Given the description of an element on the screen output the (x, y) to click on. 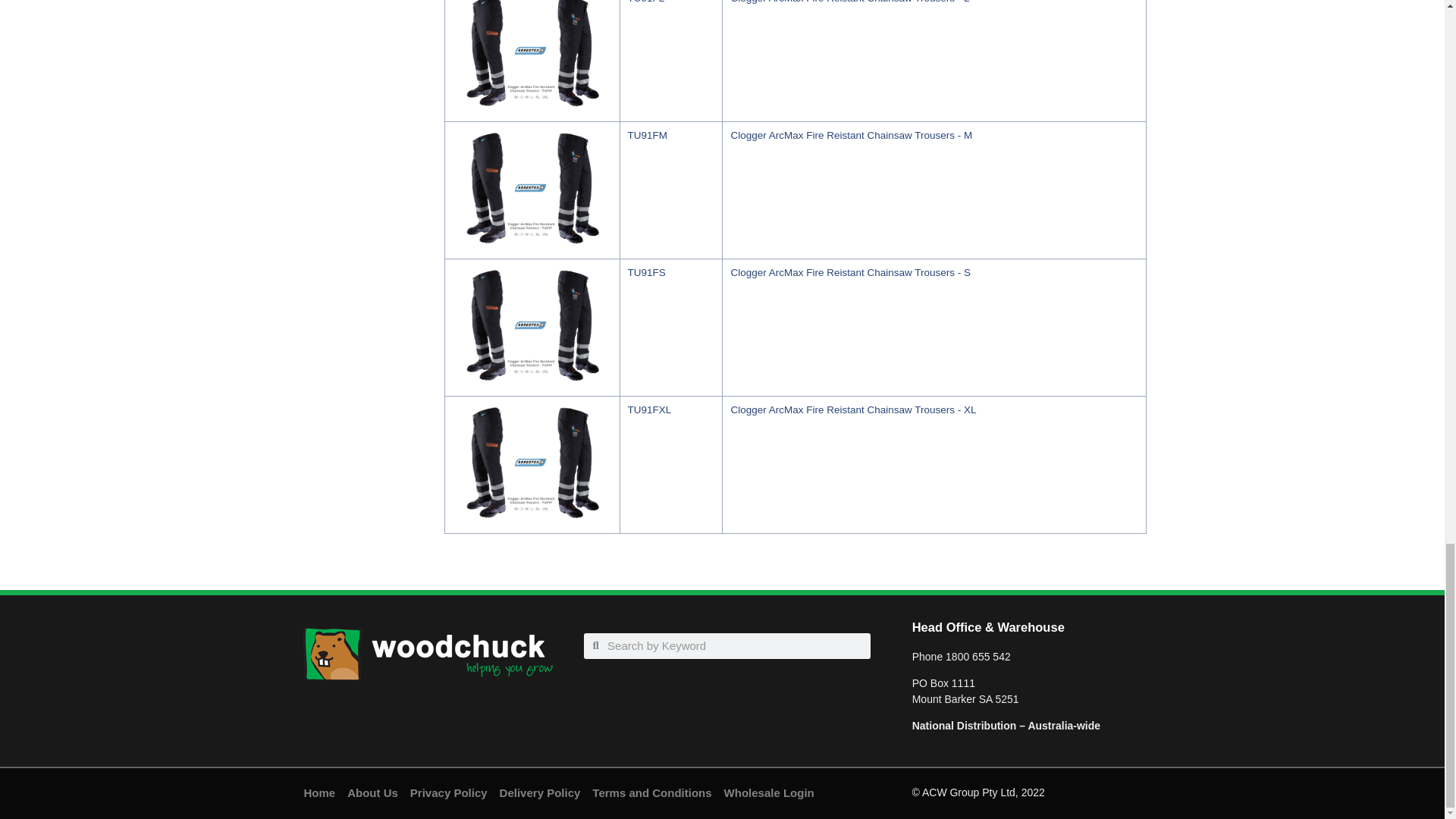
Return to the Home Page (318, 792)
